Given the description of an element on the screen output the (x, y) to click on. 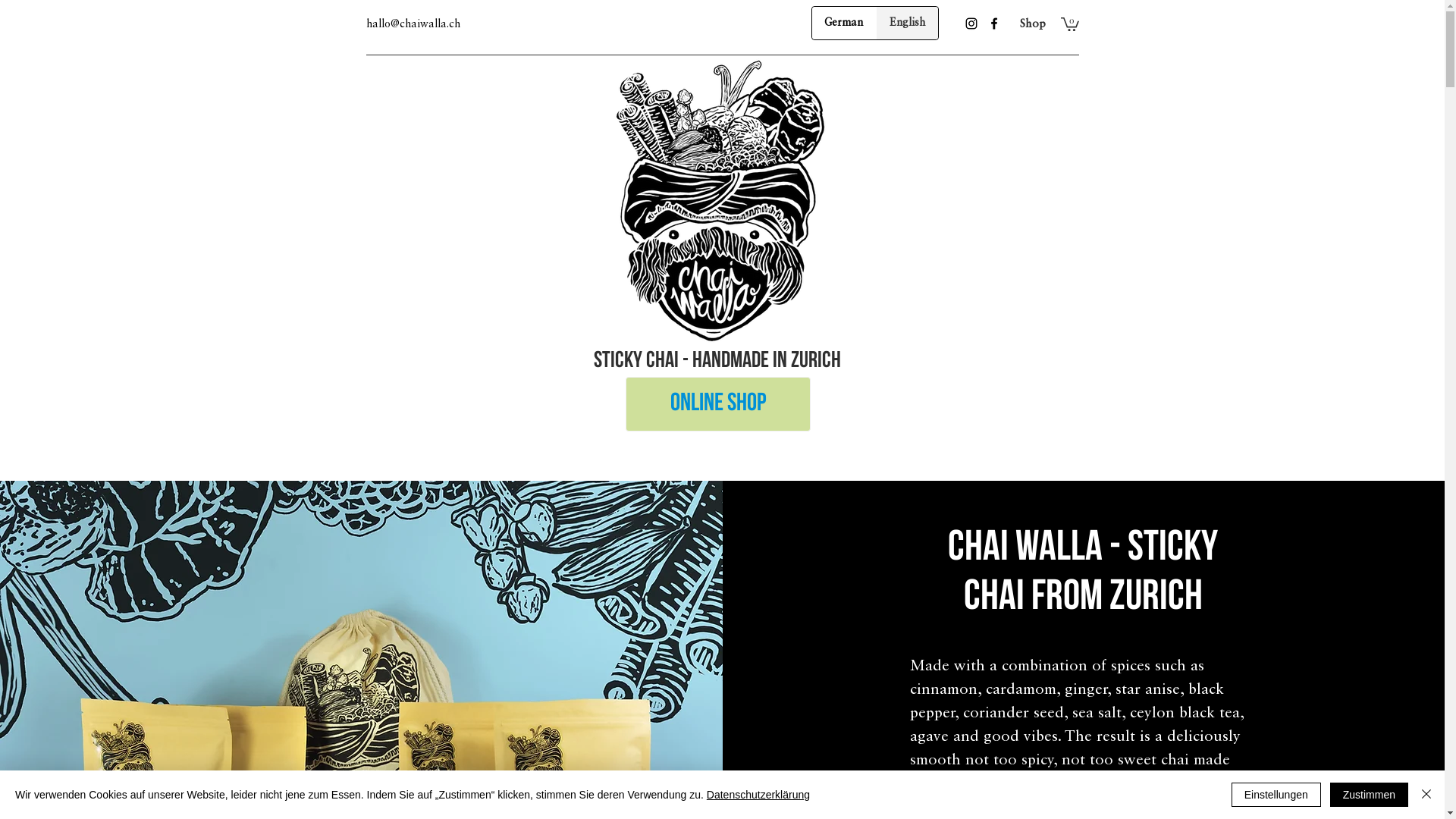
Shop Element type: text (1031, 24)
English Element type: text (906, 22)
Einstellungen Element type: text (1276, 794)
German Element type: text (843, 22)
hallo@chaiwalla.ch Element type: text (412, 23)
Zustimmen Element type: text (1369, 794)
0 Element type: text (1069, 23)
Online shop Element type: text (716, 403)
